Given the description of an element on the screen output the (x, y) to click on. 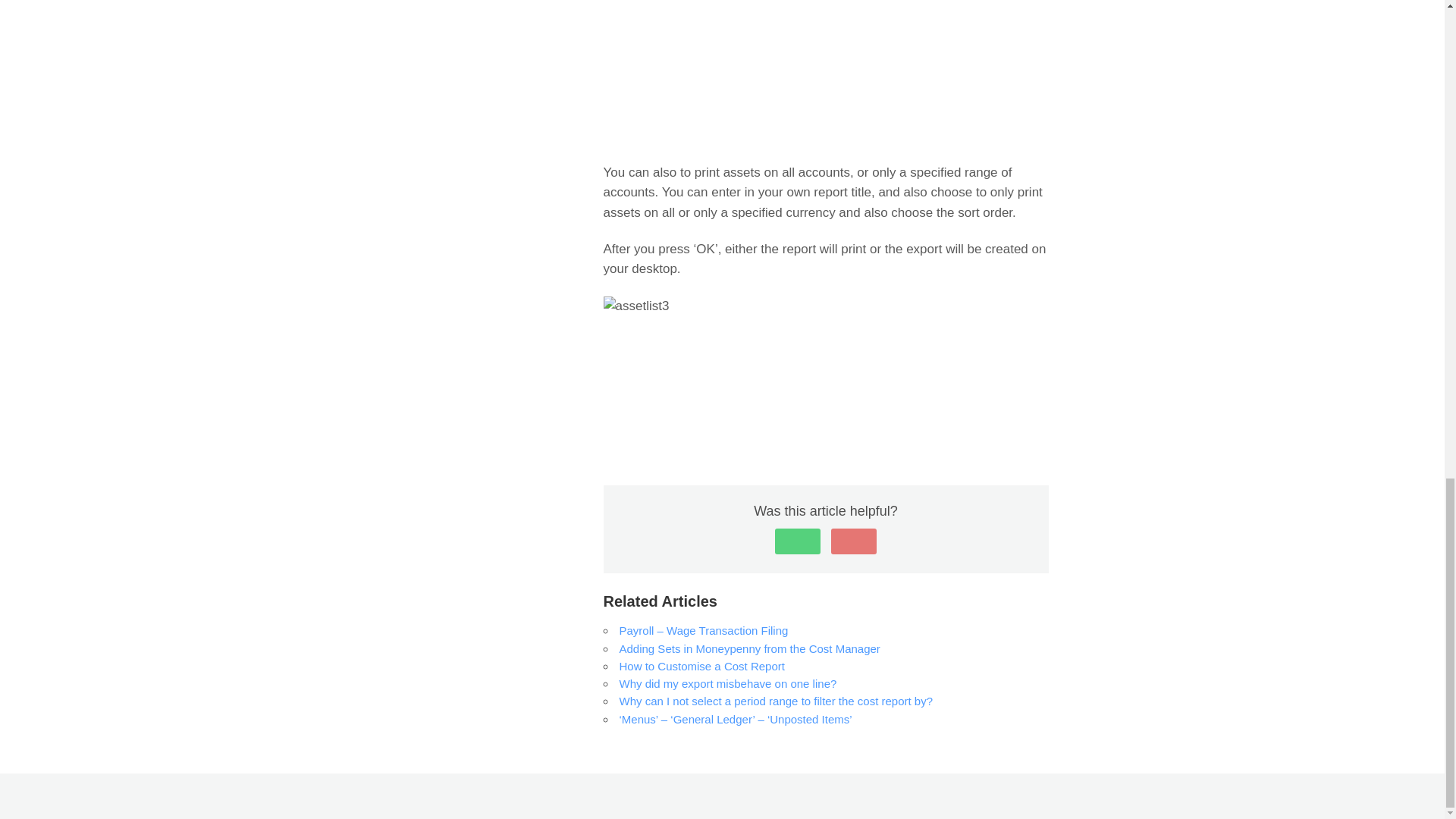
Why did my export misbehave on one line? (726, 683)
How to Customise a Cost Report (701, 666)
Adding Sets in Moneypenny from the Cost Manager (748, 648)
